Given the description of an element on the screen output the (x, y) to click on. 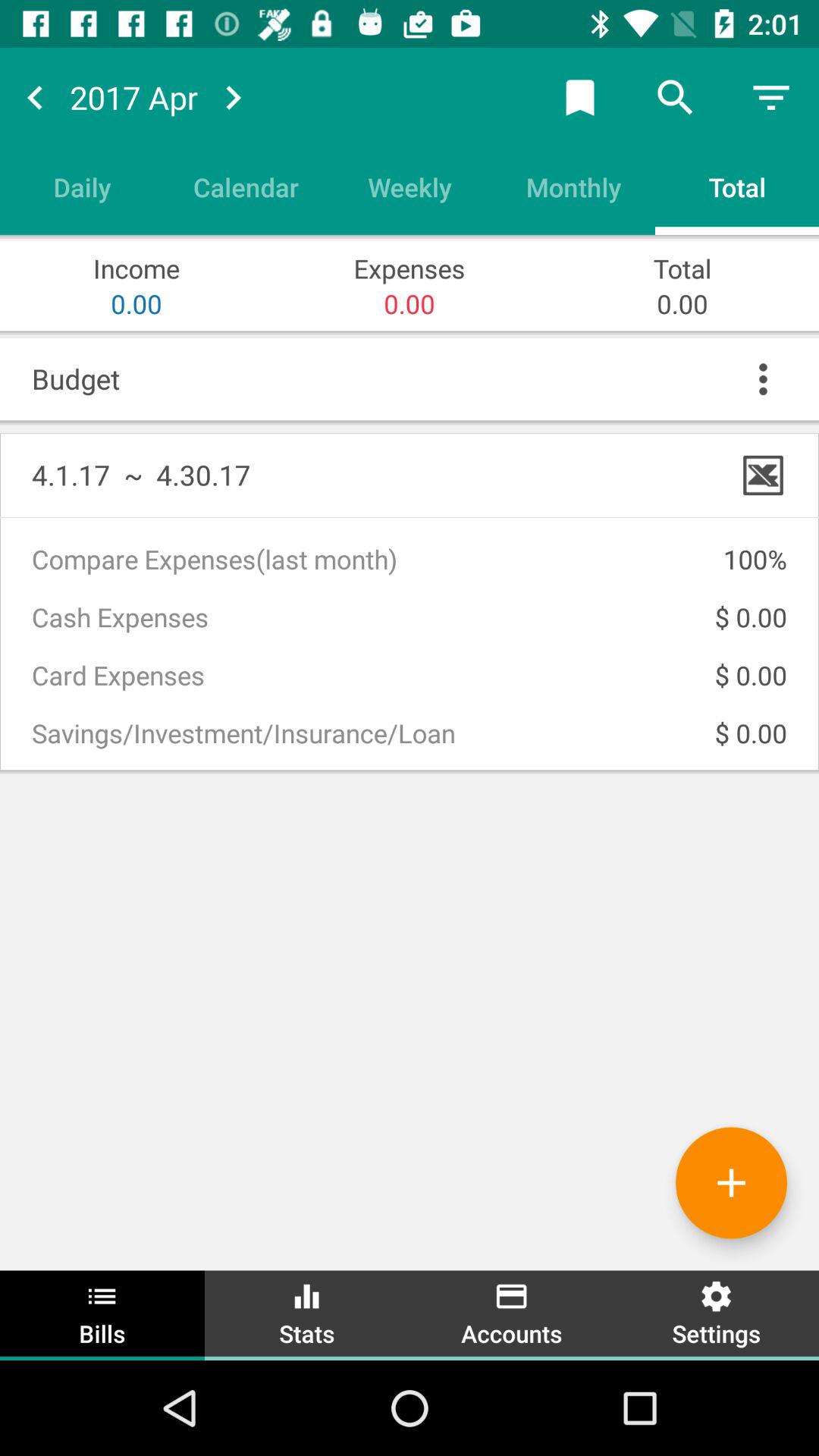
click item to the left of the total icon (573, 186)
